Given the description of an element on the screen output the (x, y) to click on. 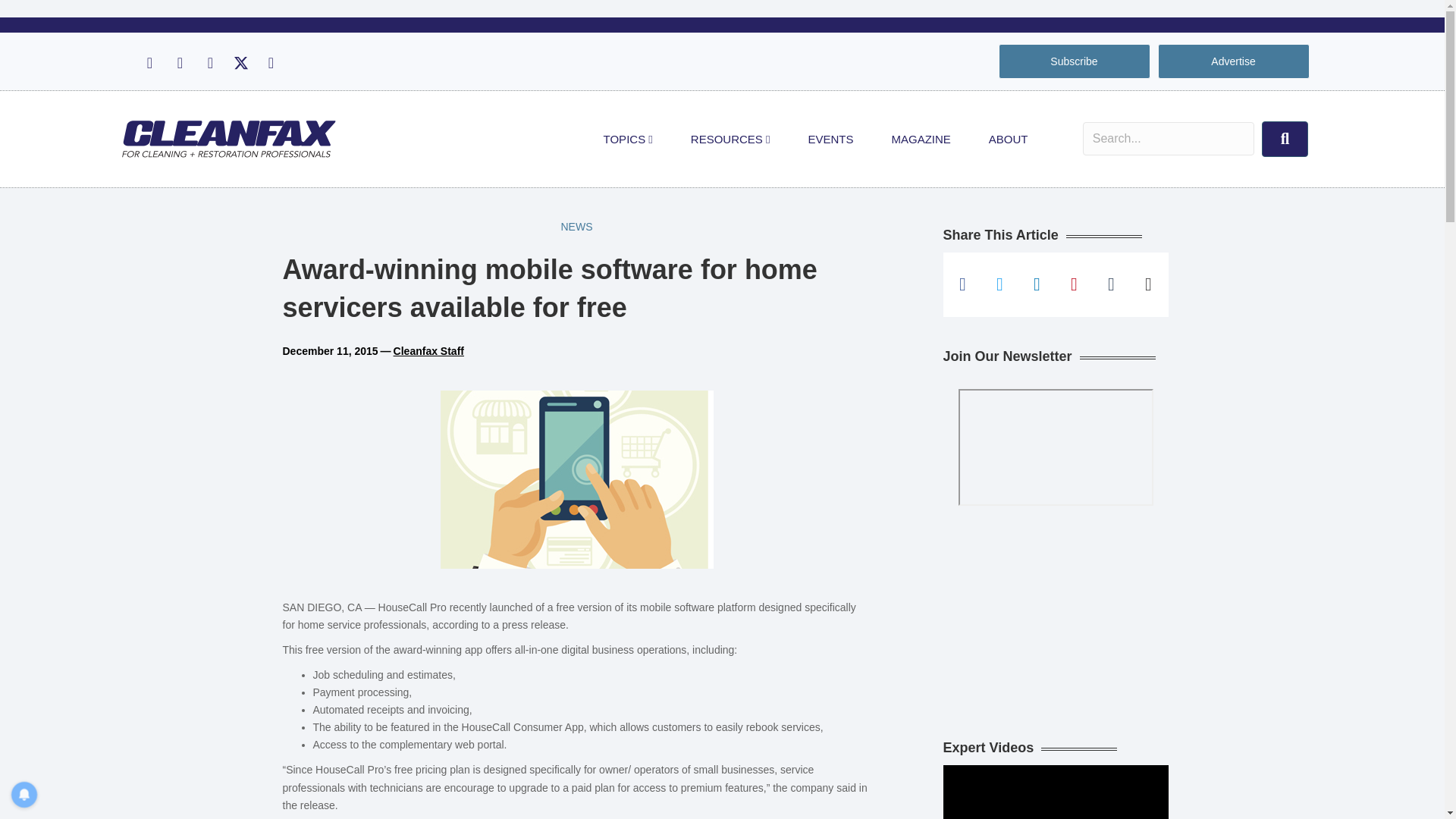
Instagram (179, 62)
Going-Mobile-618 (576, 479)
ABOUT (1007, 138)
NEWS (575, 226)
Advertise (1232, 61)
RESOURCES (730, 138)
TOPICS (628, 138)
MAGAZINE (920, 138)
EVENTS (830, 138)
YouTube (270, 62)
Facebook (149, 62)
LinkedIn (209, 62)
Cleanfax Staff (428, 350)
Subscribe (1073, 61)
